Given the description of an element on the screen output the (x, y) to click on. 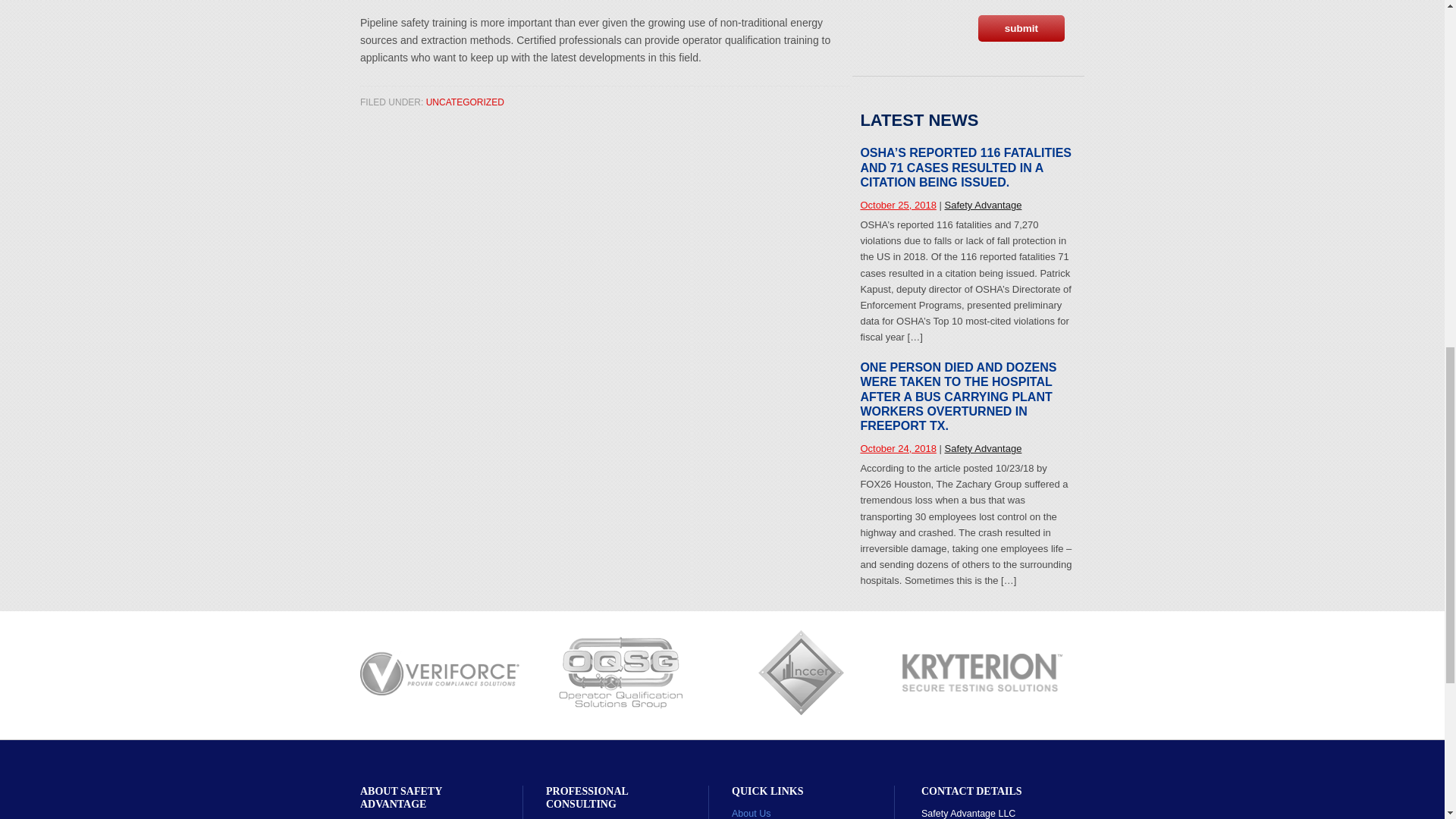
UNCATEGORIZED (464, 102)
Safety Advantage (982, 448)
Submit (1021, 28)
Safety Advantage (982, 204)
Submit (1021, 28)
